Given the description of an element on the screen output the (x, y) to click on. 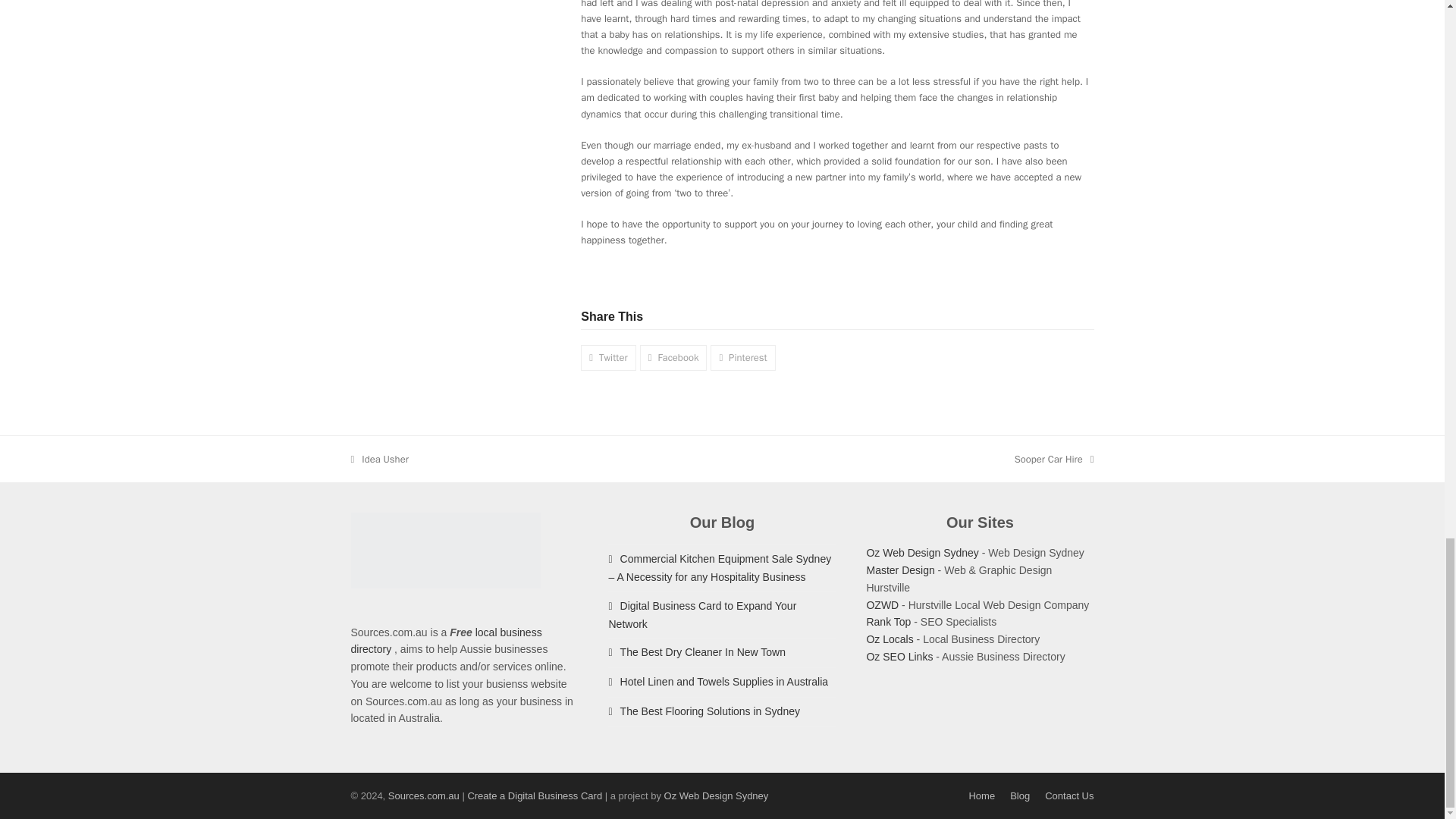
web designer hurstville (882, 604)
Master Design (900, 570)
The Best Flooring Solutions in Sydney (703, 711)
australian business directory (899, 656)
The Best Dry Cleaner In New Town (697, 652)
Oz Web Design Sydney (922, 552)
web design sydney (715, 795)
Pinterest (1054, 458)
Digital Business Card to Expand Your Network (742, 357)
web design sydney (702, 614)
Twitter (922, 552)
Hotel Linen and Towels Supplies in Australia (607, 357)
australian business directory (718, 681)
OZWD (889, 639)
